Given the description of an element on the screen output the (x, y) to click on. 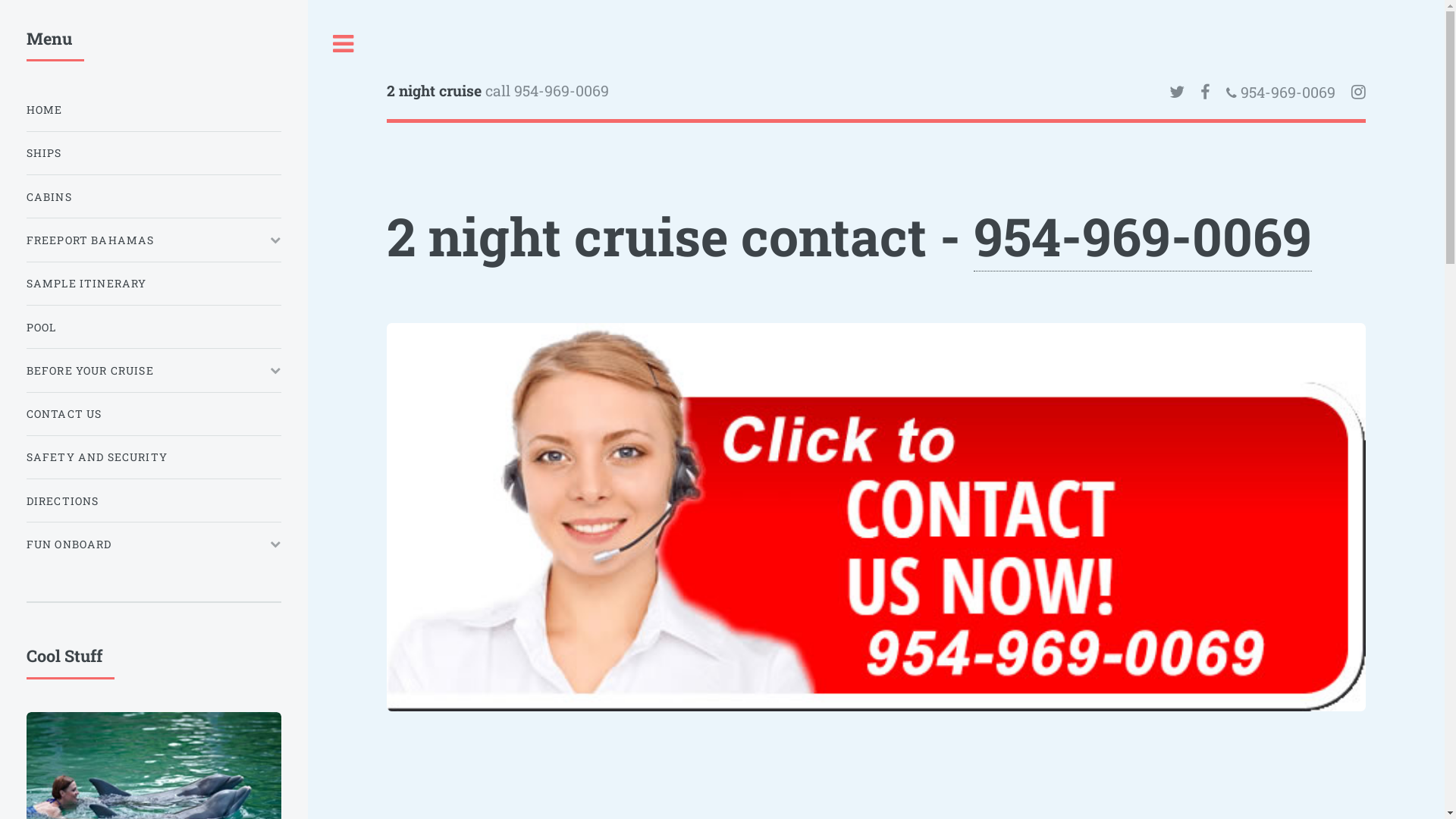
Toggle Element type: text (343, 44)
CABINS Element type: text (153, 196)
2 night cruise call 954-969-0069 Element type: text (631, 92)
954-969-0069 Element type: text (1142, 235)
HOME Element type: text (153, 109)
SAMPLE ITINERARY Element type: text (153, 283)
954-969-0069 Element type: text (1285, 91)
2 night cruise contact info - 954-969-0069 Element type: hover (875, 517)
POOL Element type: text (153, 326)
CONTACT US Element type: text (153, 413)
DIRECTIONS Element type: text (153, 500)
SHIPS Element type: text (153, 153)
SAFETY AND SECURITY Element type: text (153, 457)
